Given the description of an element on the screen output the (x, y) to click on. 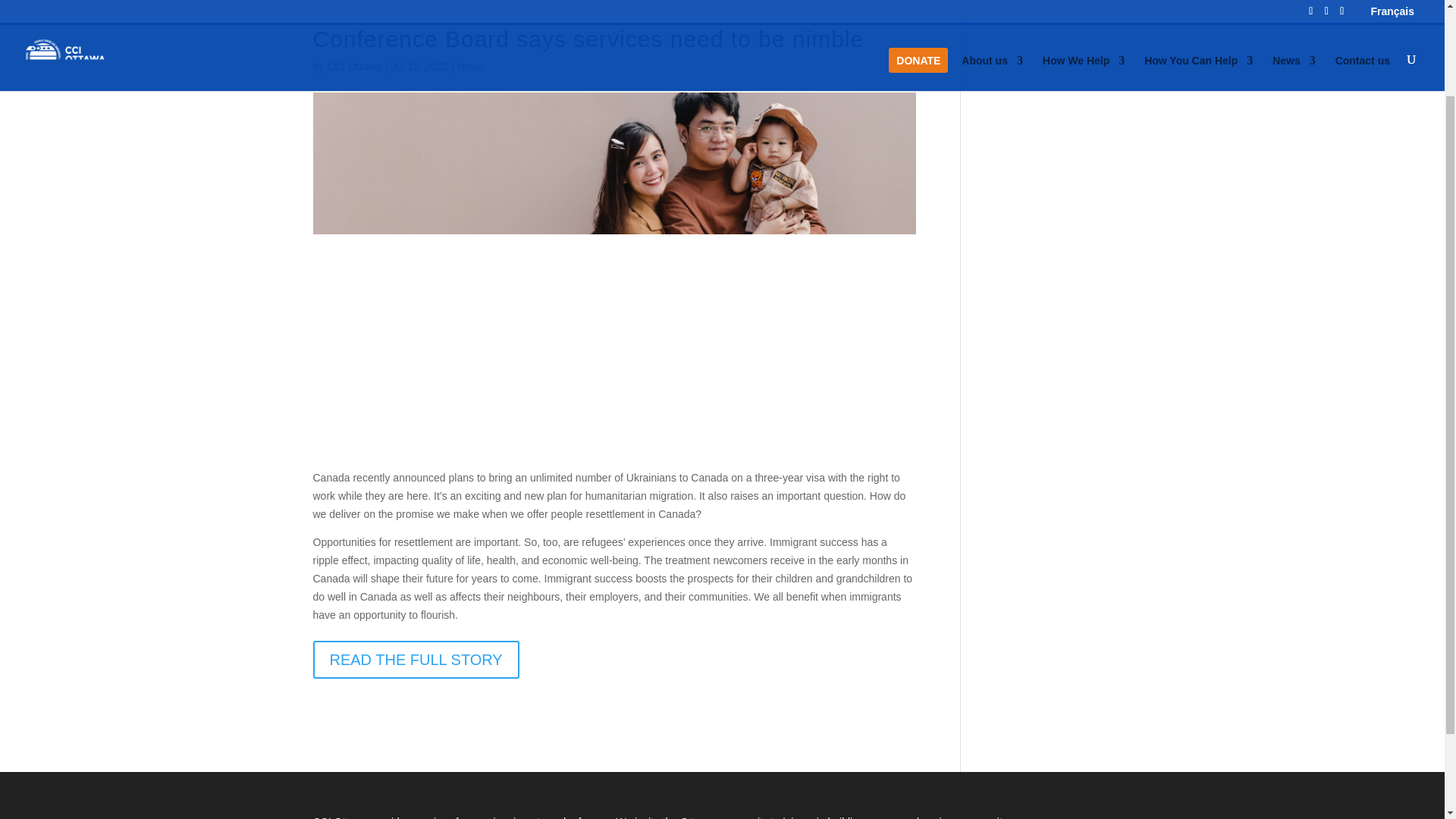
News (470, 66)
CCI Ottawa (353, 66)
Posts by CCI Ottawa (353, 66)
READ THE FULL STORY (415, 659)
